Given the description of an element on the screen output the (x, y) to click on. 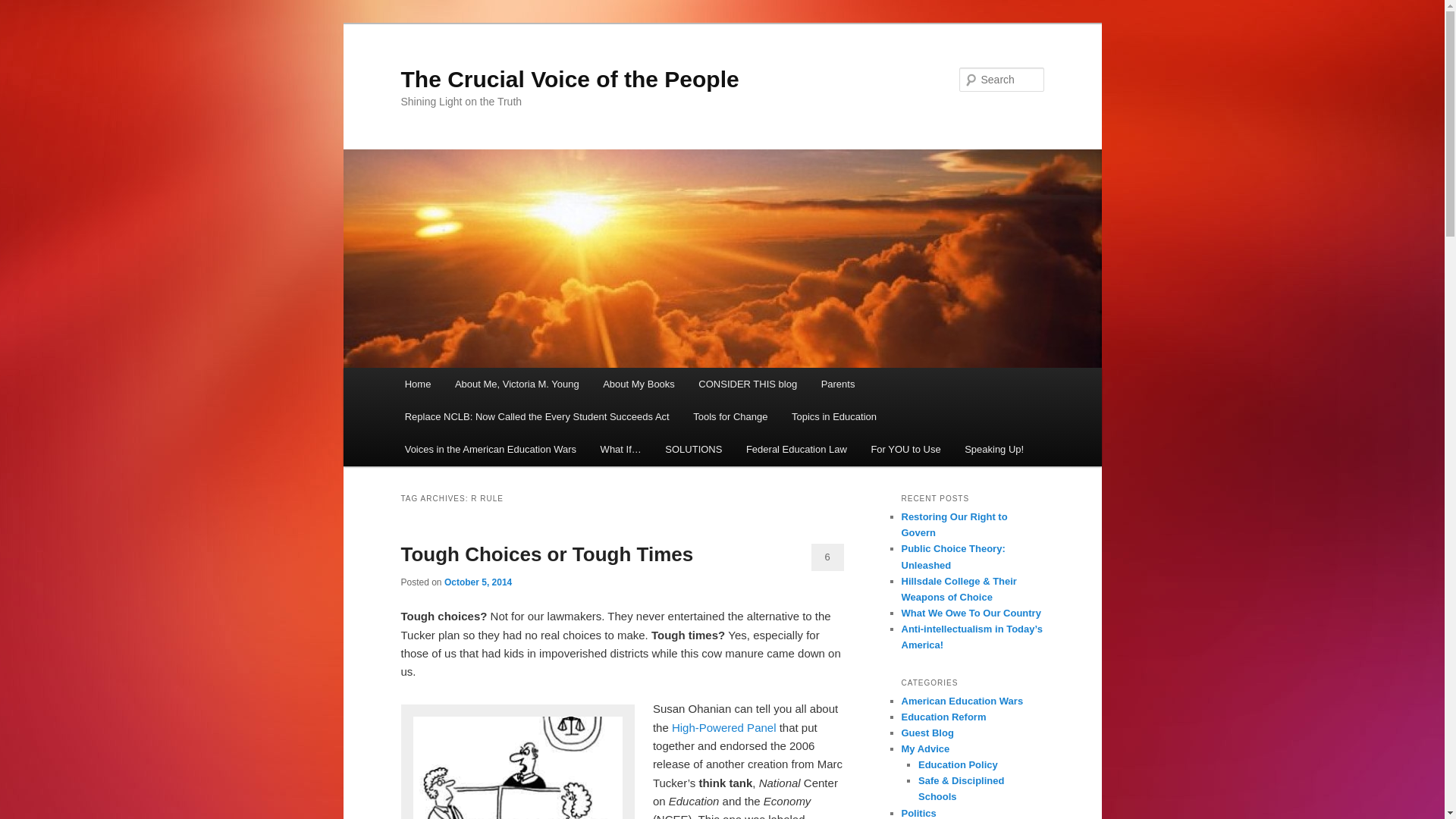
Home (417, 383)
Parents (837, 383)
Federal Education Law (796, 449)
The Crucial Voice of the People (569, 78)
Search (24, 8)
Tools for Change (729, 416)
Replace NCLB: Now Called the Every Student Succeeds Act (537, 416)
CONSIDER THIS blog (748, 383)
About My Books (638, 383)
1:47 PM (478, 582)
Topics in Education (833, 416)
Voices in the American Education Wars (490, 449)
About Me, Victoria M. Young (516, 383)
